Given the description of an element on the screen output the (x, y) to click on. 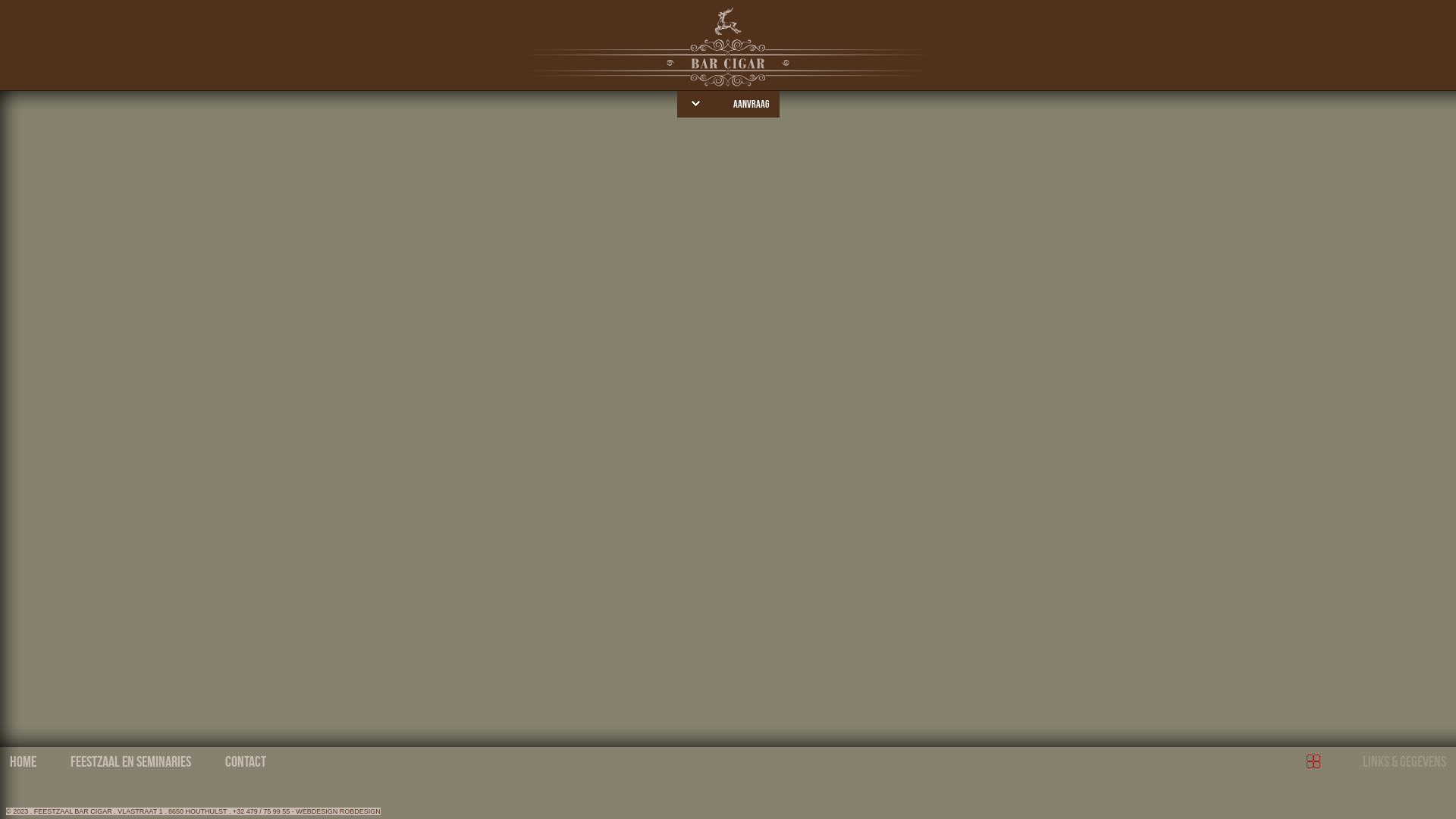
FEESTZAAL EN SEMINARIES Element type: text (130, 760)
AANVRAAG Element type: text (750, 103)
CONTACT Element type: text (245, 760)
WEBDESIGN ROBDESIGN Element type: text (337, 811)
LINKS & GEGEVENS Element type: text (1403, 760)
HOME Element type: text (23, 760)
Verzenden Element type: text (1041, 254)
